Given the description of an element on the screen output the (x, y) to click on. 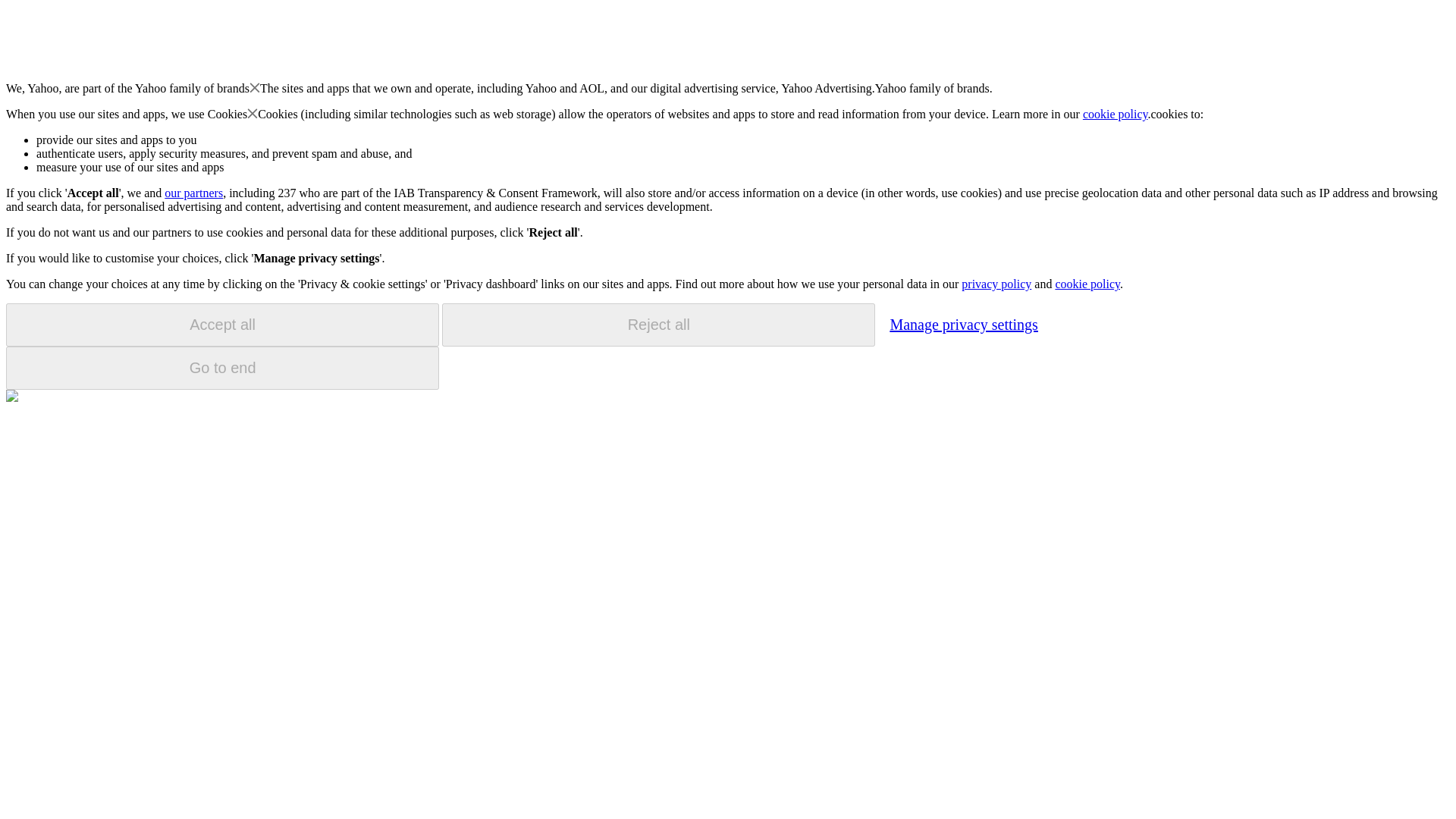
Manage privacy settings (963, 323)
Go to end (222, 367)
cookie policy (1115, 113)
privacy policy (995, 283)
Accept all (222, 324)
our partners (193, 192)
Reject all (658, 324)
cookie policy (1086, 283)
